Given the description of an element on the screen output the (x, y) to click on. 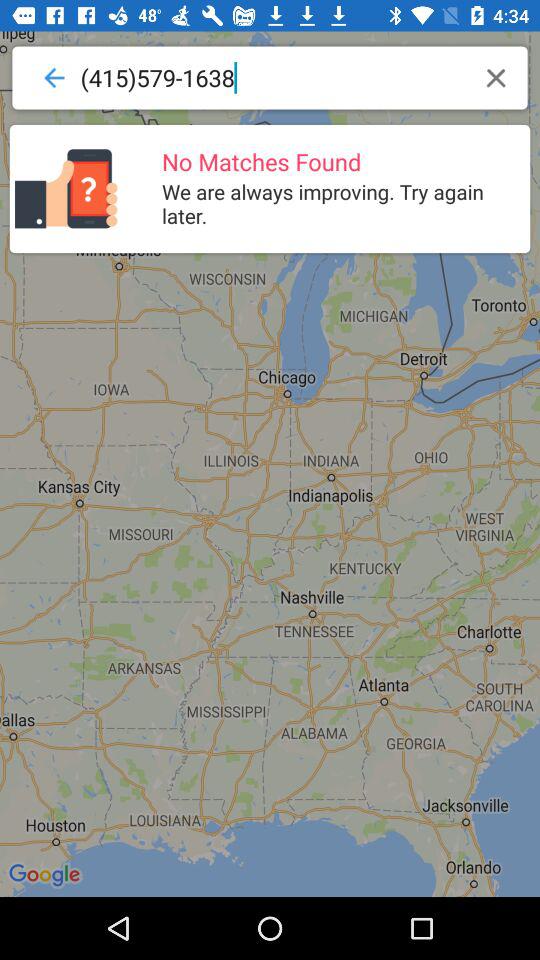
launch the item above the no matches found (274, 77)
